Given the description of an element on the screen output the (x, y) to click on. 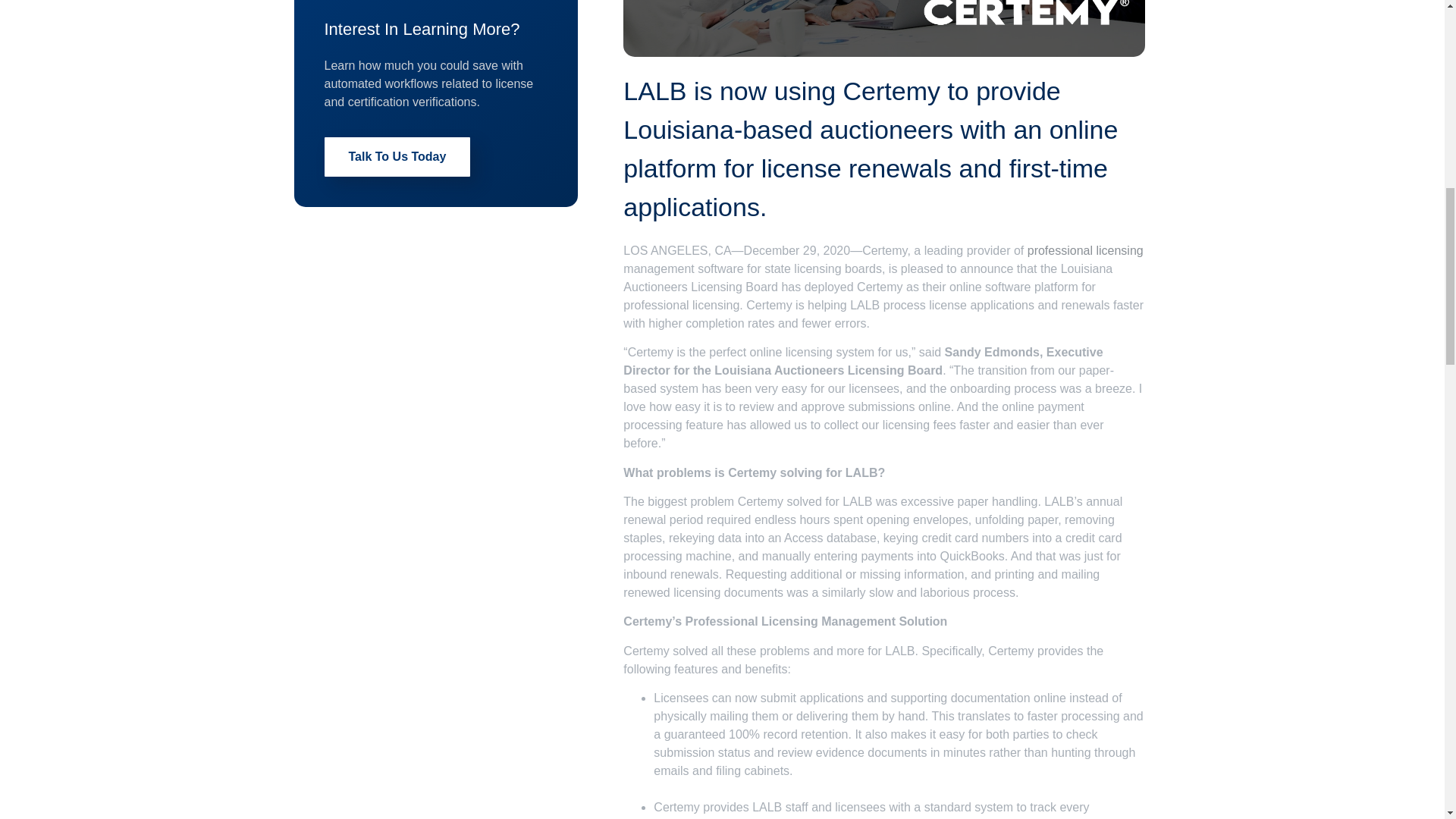
Professional Licensing (1084, 250)
professional licensing (1084, 250)
Talk To Us Today (397, 156)
